Given the description of an element on the screen output the (x, y) to click on. 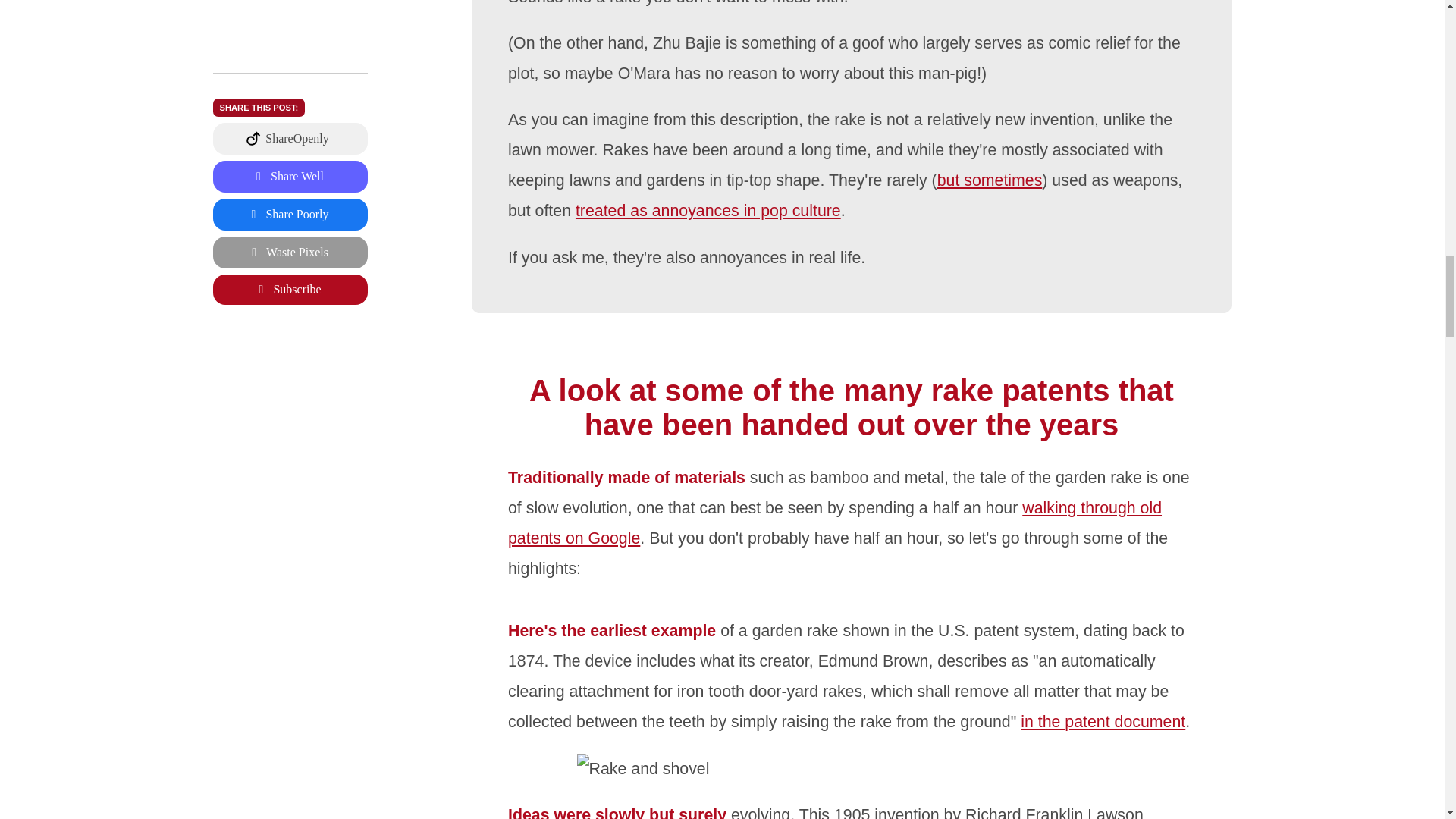
but sometimes (989, 180)
walking through old patents on Google (834, 522)
treated as annoyances in pop culture (708, 210)
in the patent document (1104, 721)
